Given the description of an element on the screen output the (x, y) to click on. 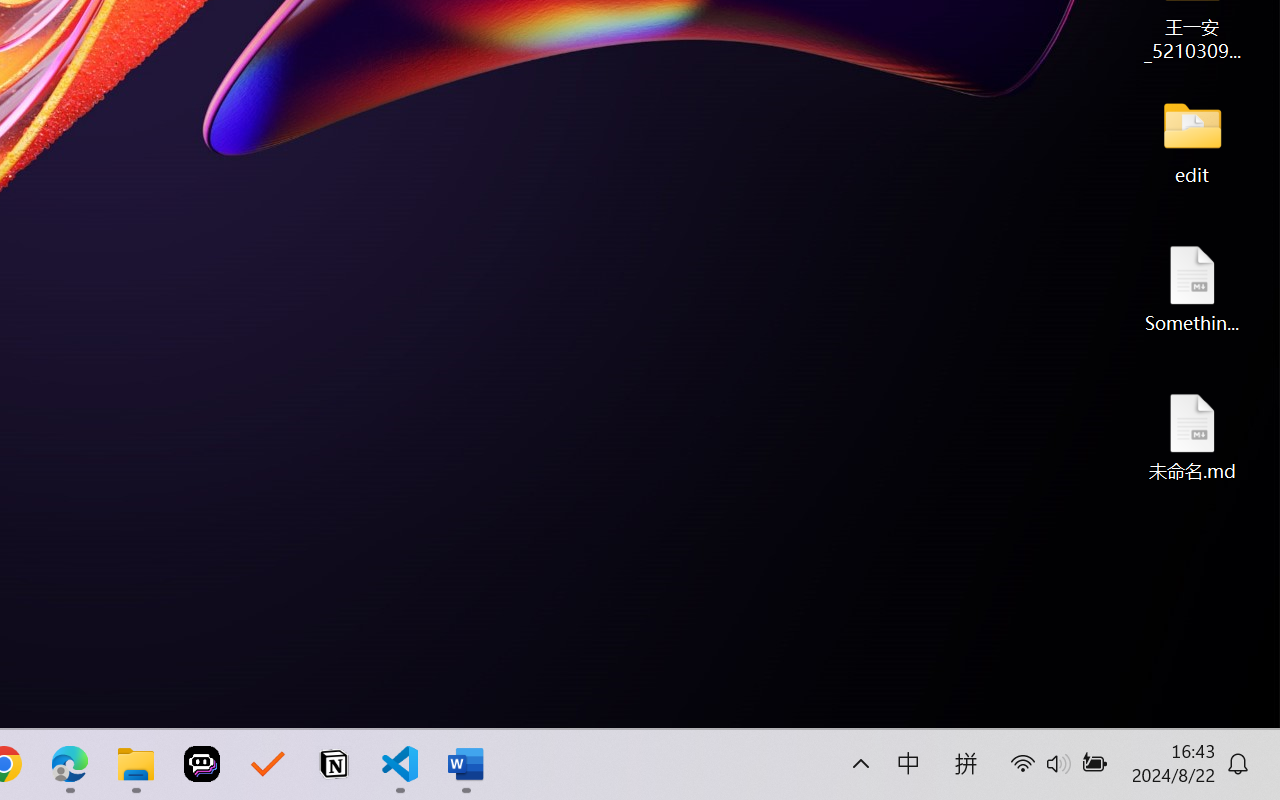
Something.md (1192, 288)
edit (1192, 140)
